Given the description of an element on the screen output the (x, y) to click on. 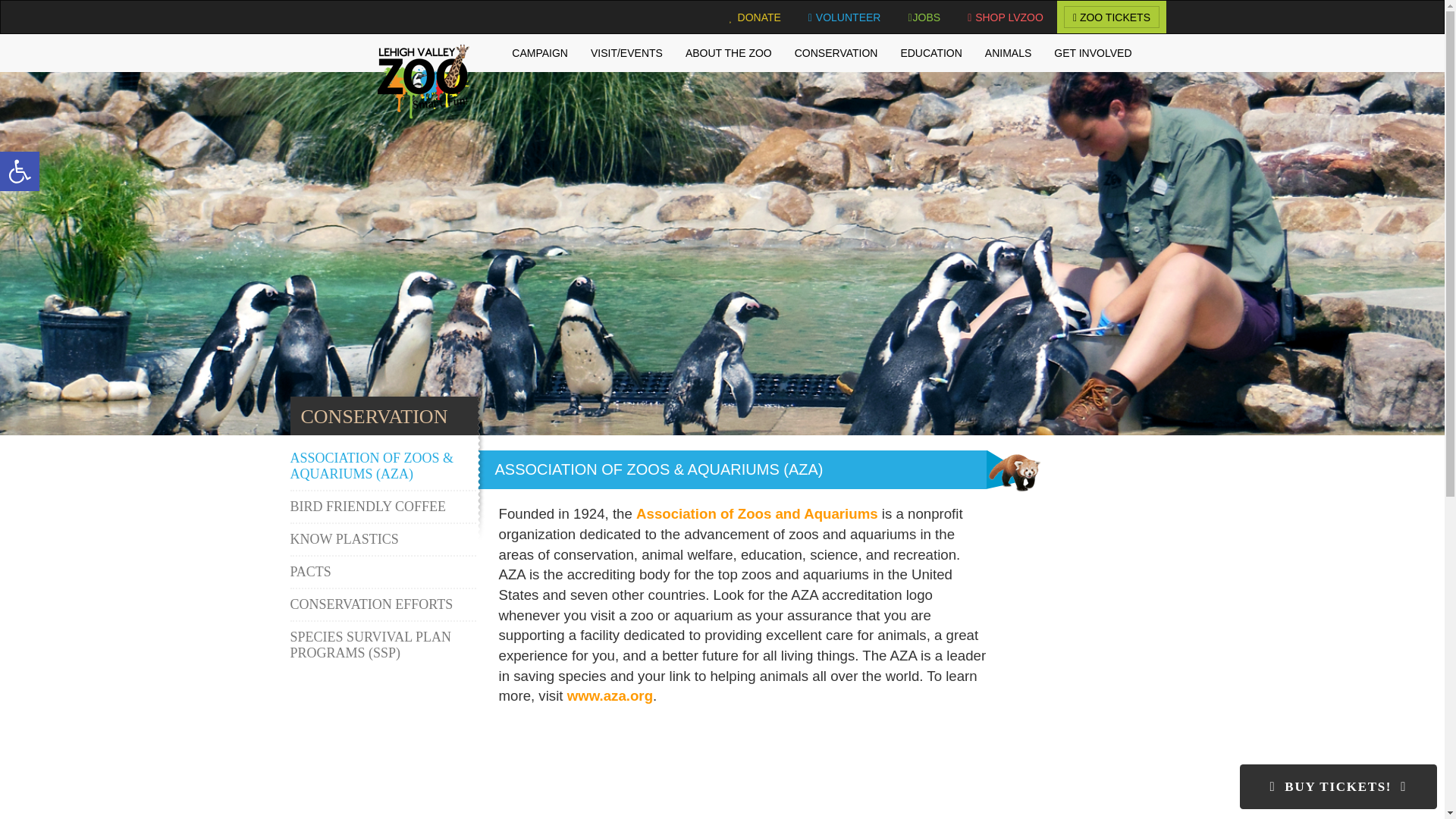
VOLUNTEER (844, 16)
GET INVOLVED (1092, 53)
EDUCATION (930, 53)
JOBS (925, 16)
ZOO TICKETS (1110, 16)
ANIMALS (1008, 53)
DONATE (755, 16)
SHOP LVZOO (1006, 16)
Accessibility Tools (19, 170)
Accessibility Tools (19, 170)
